Given the description of an element on the screen output the (x, y) to click on. 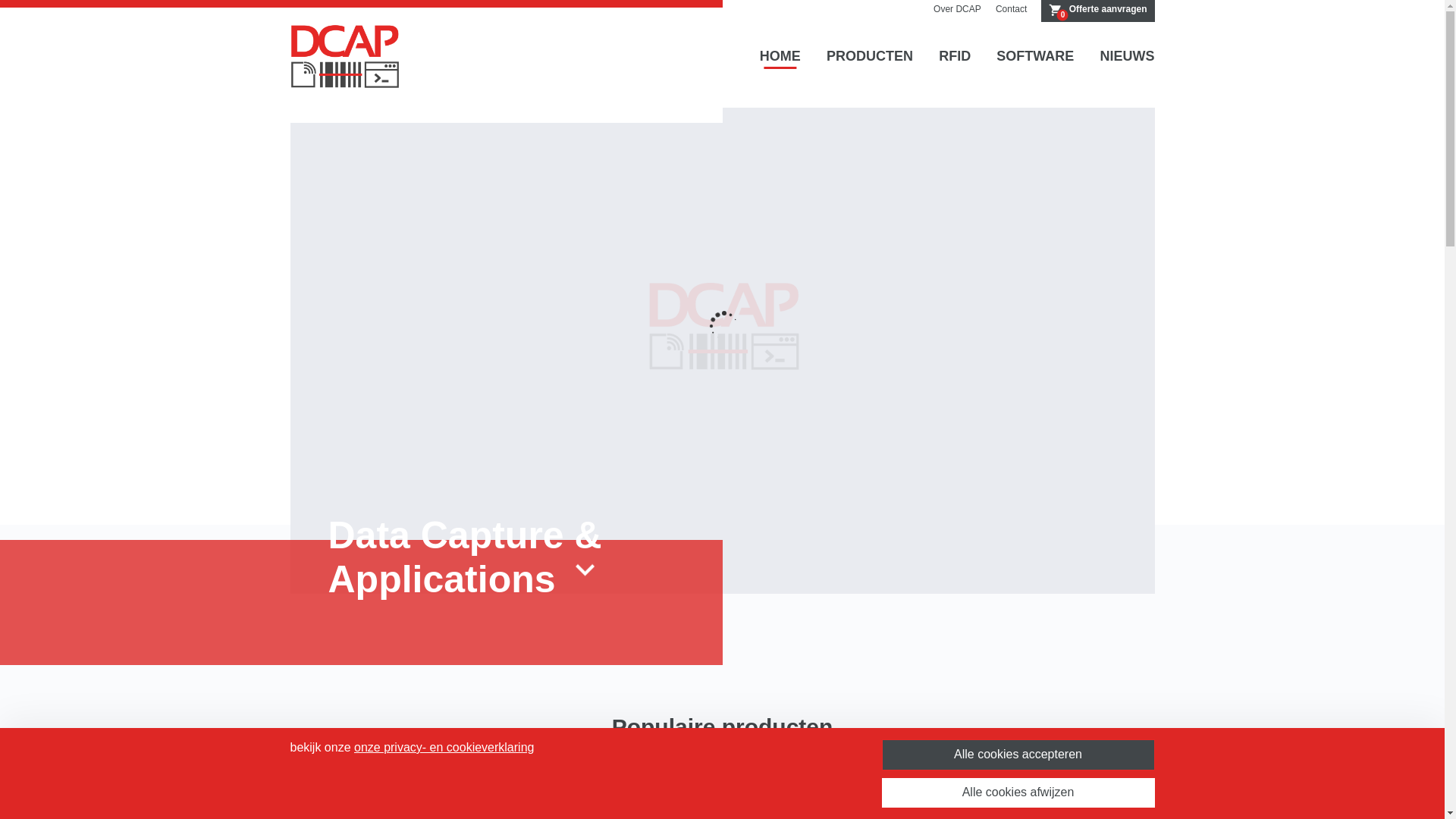
SOFTWARE Element type: text (1034, 56)
Alle cookies afwijzen Element type: text (1017, 792)
NIEUWS Element type: text (1126, 56)
RFID Element type: text (954, 56)
Over DCAP Element type: text (957, 8)
Data Capture & Applications Element type: text (543, 557)
onze privacy- en cookieverklaring Element type: text (443, 746)
PRODUCTEN Element type: text (869, 56)
Alle cookies accepteren Element type: text (1017, 754)
Contact Element type: text (1010, 8)
HOME Element type: text (779, 56)
